Given the description of an element on the screen output the (x, y) to click on. 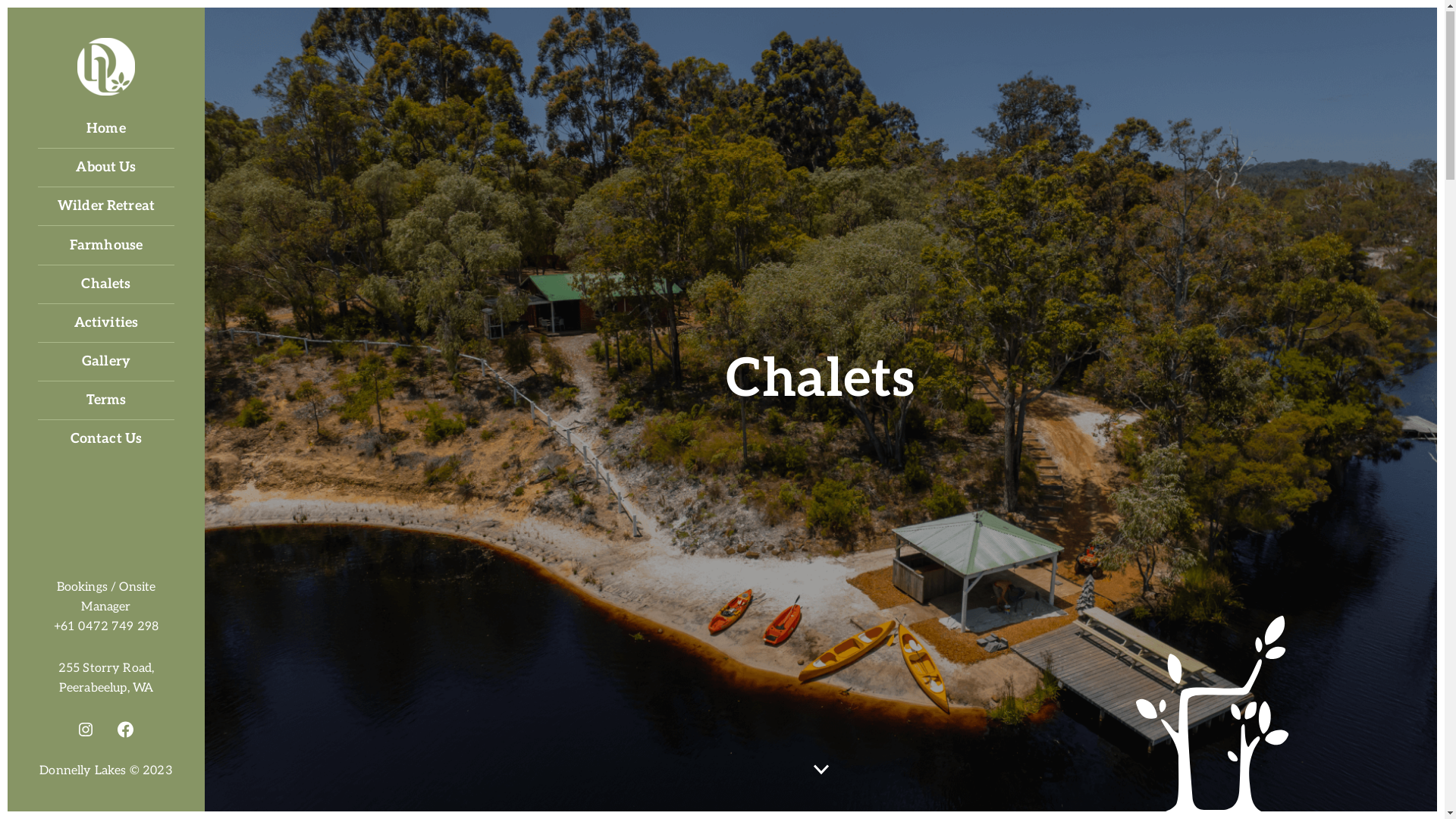
Wilder Retreat Element type: text (105, 207)
Farmhouse Element type: text (105, 246)
About Us Element type: text (105, 168)
Home Element type: text (105, 130)
Activities Element type: text (105, 324)
Instagram Element type: text (85, 730)
Terms Element type: text (105, 401)
Chalets Element type: text (105, 285)
Gallery Element type: text (105, 362)
+61 0472 749 298 Element type: text (106, 627)
Facebook Element type: text (126, 730)
Contact Us Element type: text (105, 440)
255 Storry Road, Peerabeelup, WA Element type: text (105, 678)
